Given the description of an element on the screen output the (x, y) to click on. 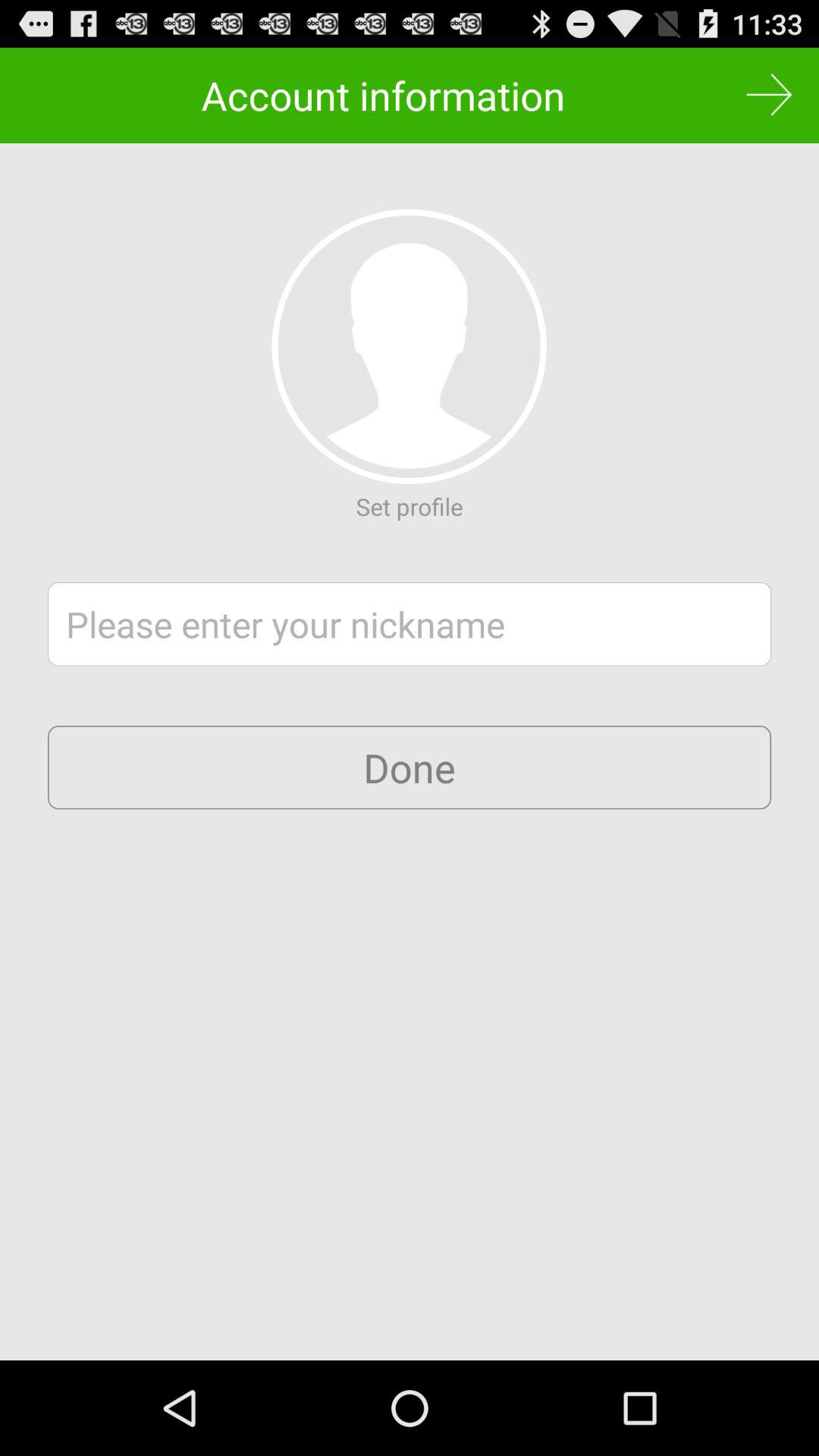
set profile picture (408, 346)
